Given the description of an element on the screen output the (x, y) to click on. 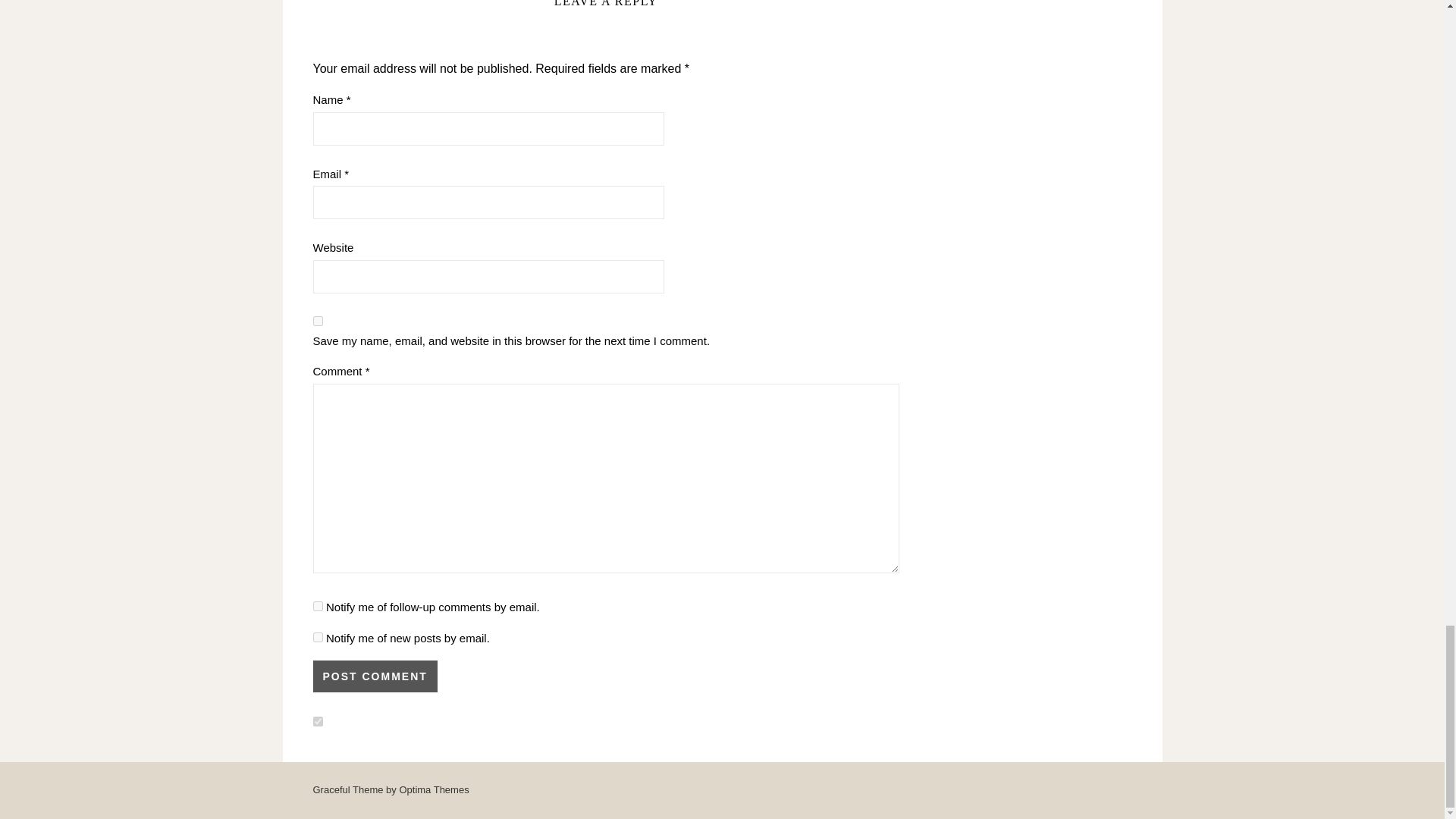
Post Comment (374, 676)
on (317, 721)
subscribe (317, 605)
CommentLuv is enabled (393, 721)
subscribe (317, 637)
yes (317, 320)
